Given the description of an element on the screen output the (x, y) to click on. 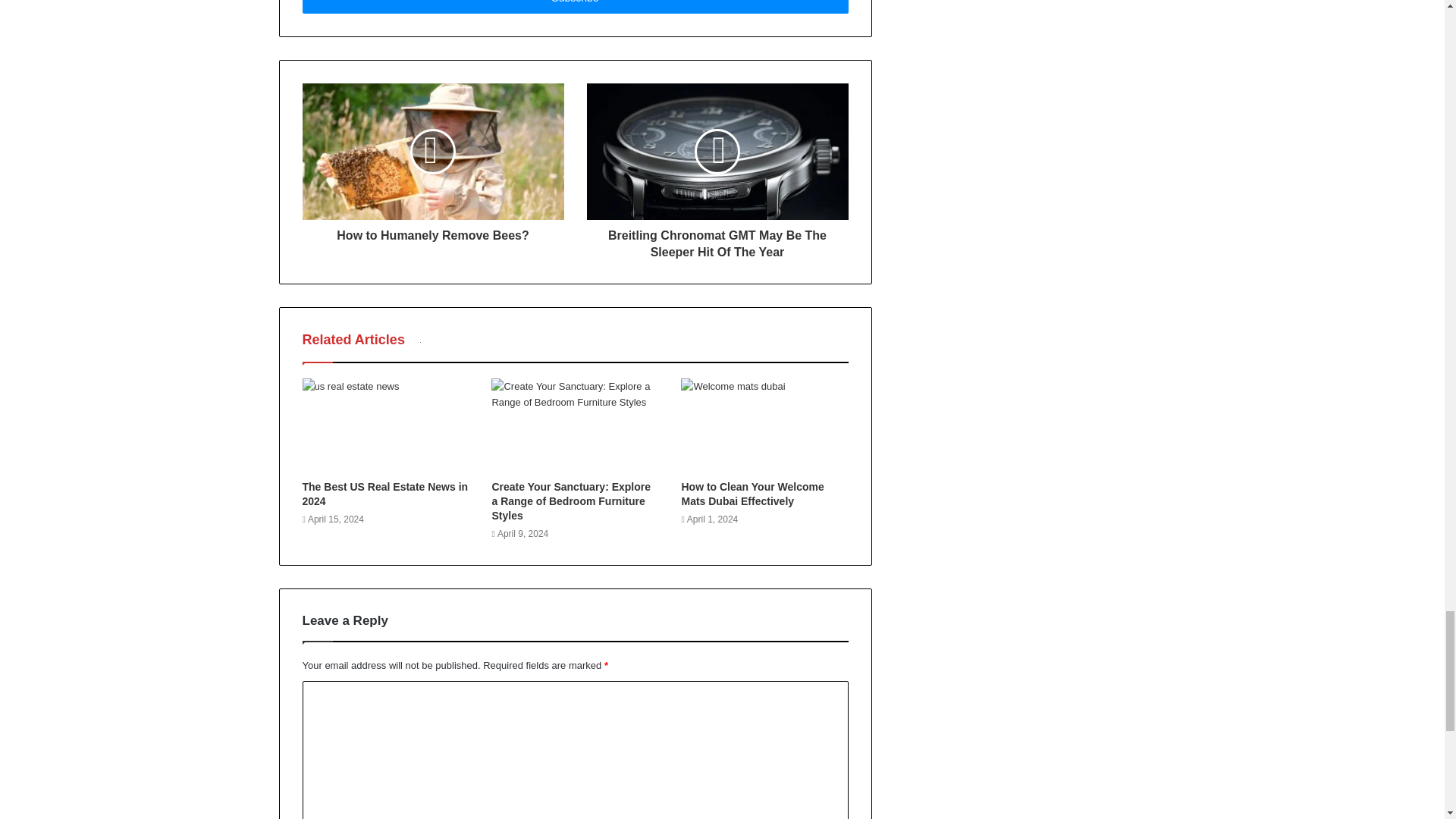
Subscribe (574, 6)
